Given the description of an element on the screen output the (x, y) to click on. 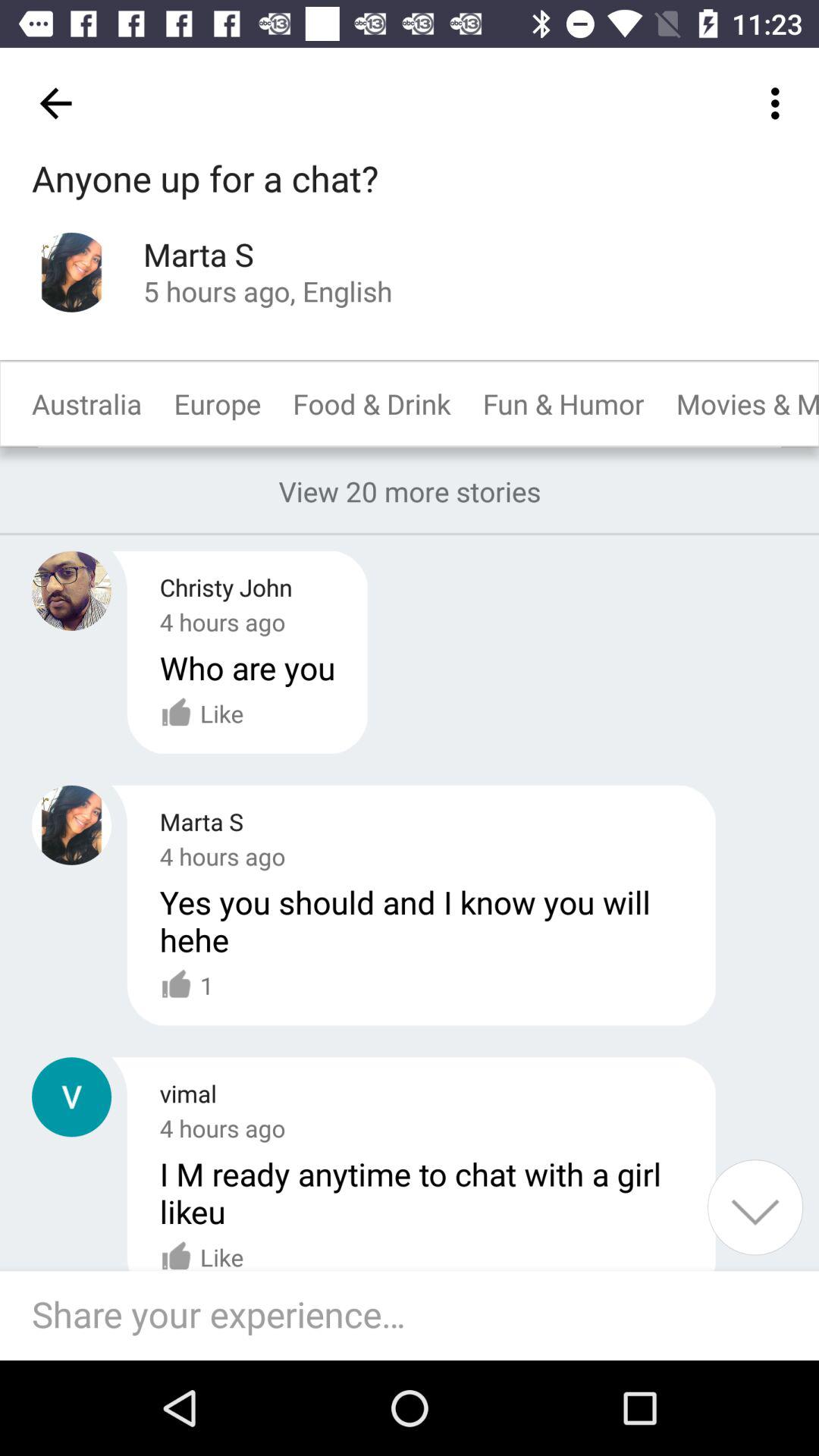
write a reply (417, 1315)
